Given the description of an element on the screen output the (x, y) to click on. 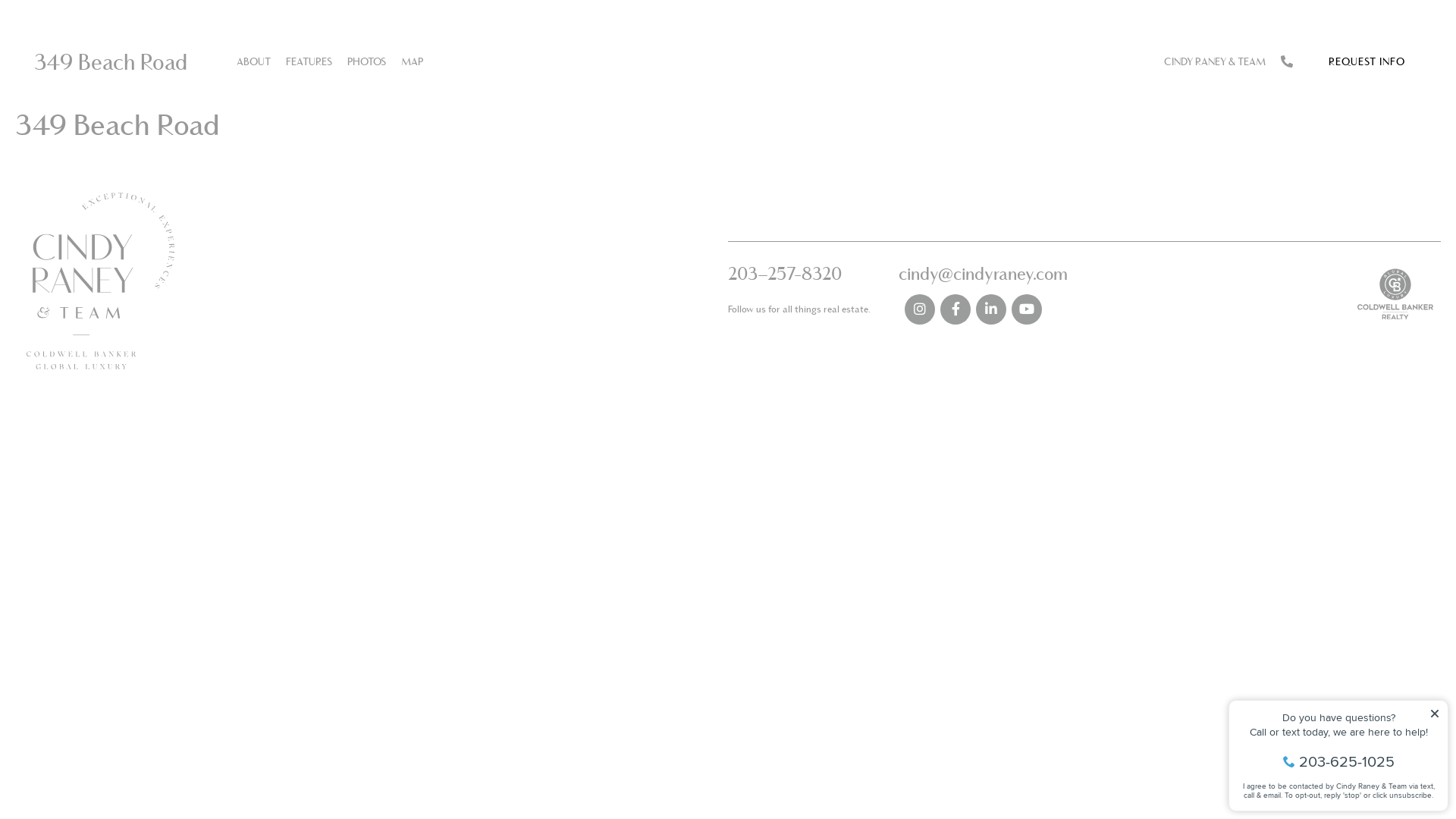
cindy@cindyraney.com Element type: text (982, 273)
FEATURES Element type: text (308, 61)
MAP Element type: text (412, 61)
ABOUT Element type: text (253, 61)
349 Beach Road Element type: text (117, 124)
CINDY RANEY & TEAM Element type: text (1214, 61)
349 Beach Road Element type: text (110, 61)
PHOTOS Element type: text (366, 61)
